Given the description of an element on the screen output the (x, y) to click on. 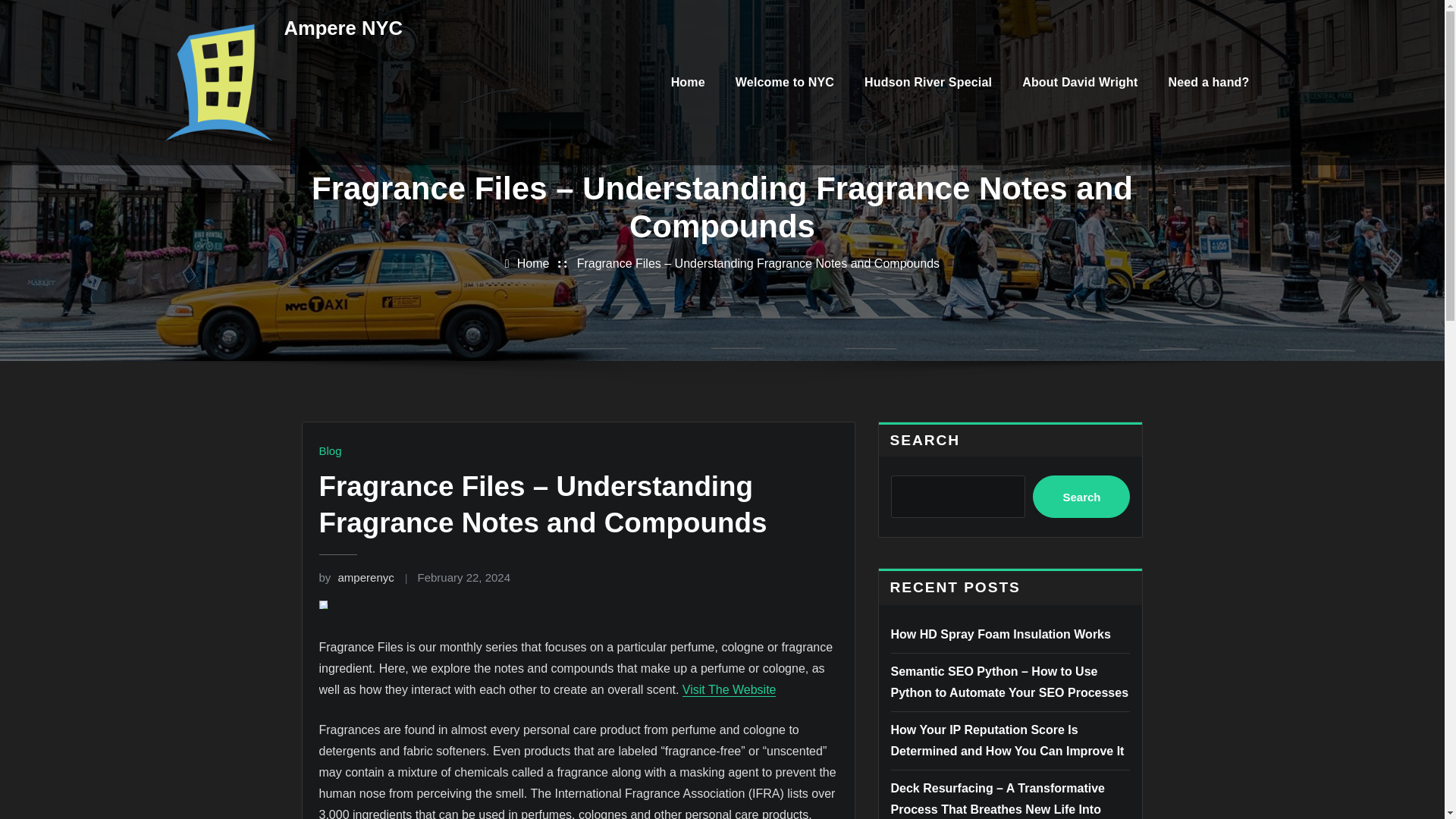
How HD Spray Foam Insulation Works (999, 634)
Blog (329, 450)
Visit The Website (729, 689)
About David Wright (1080, 82)
by amperenyc (355, 576)
Ampere NYC (342, 27)
February 22, 2024 (463, 576)
Search (1080, 496)
Welcome to NYC (784, 82)
Need a hand? (1208, 82)
Home (533, 263)
Hudson River Special (927, 82)
